Given the description of an element on the screen output the (x, y) to click on. 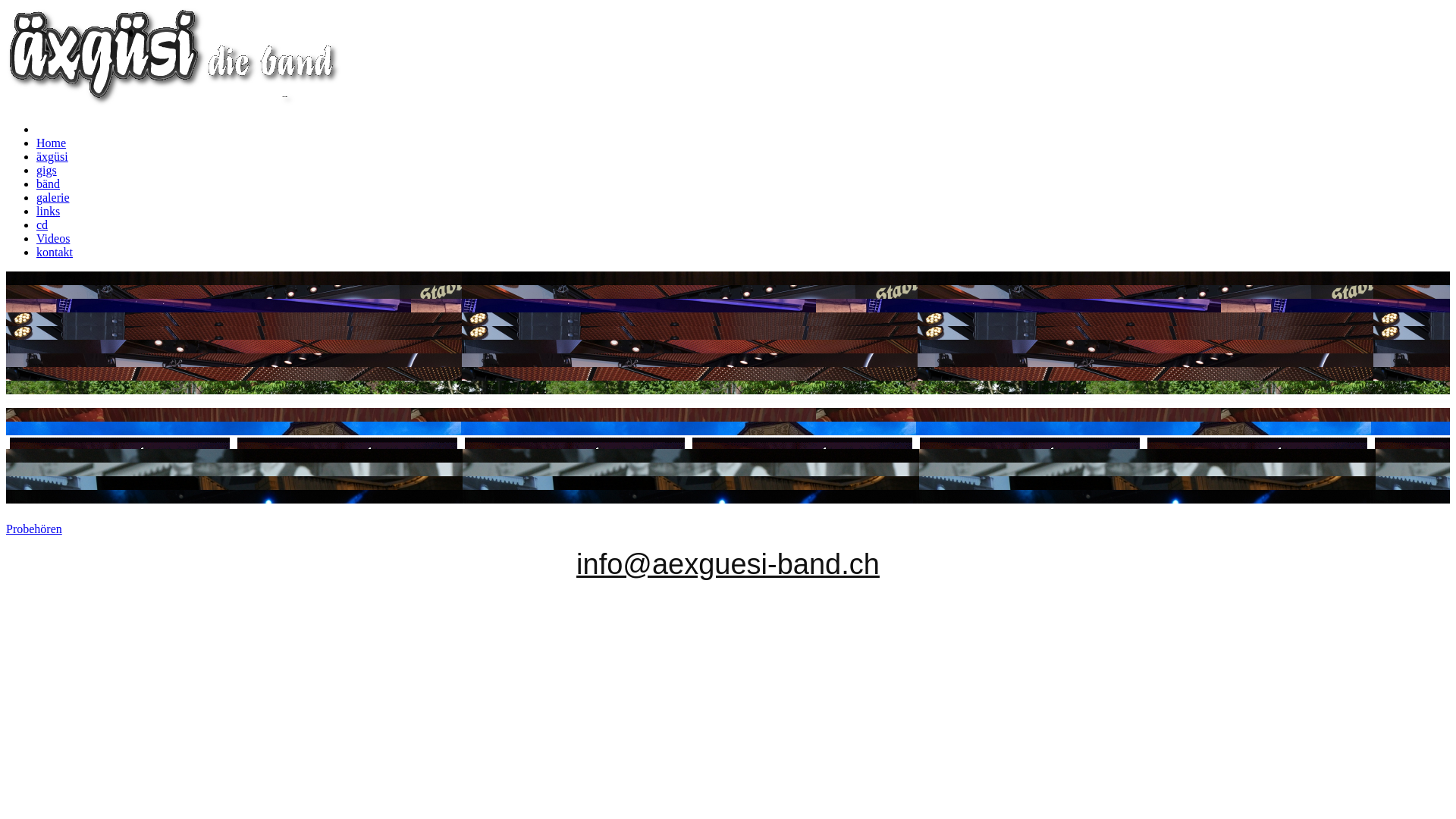
Videos Element type: text (52, 238)
kontakt Element type: text (54, 251)
gigs Element type: text (46, 169)
Home Element type: text (50, 142)
cd Element type: text (41, 224)
info@aexguesi-band.ch Element type: text (727, 564)
links Element type: text (47, 210)
Zur Startseite Element type: hover (174, 103)
galerie Element type: text (52, 197)
